Given the description of an element on the screen output the (x, y) to click on. 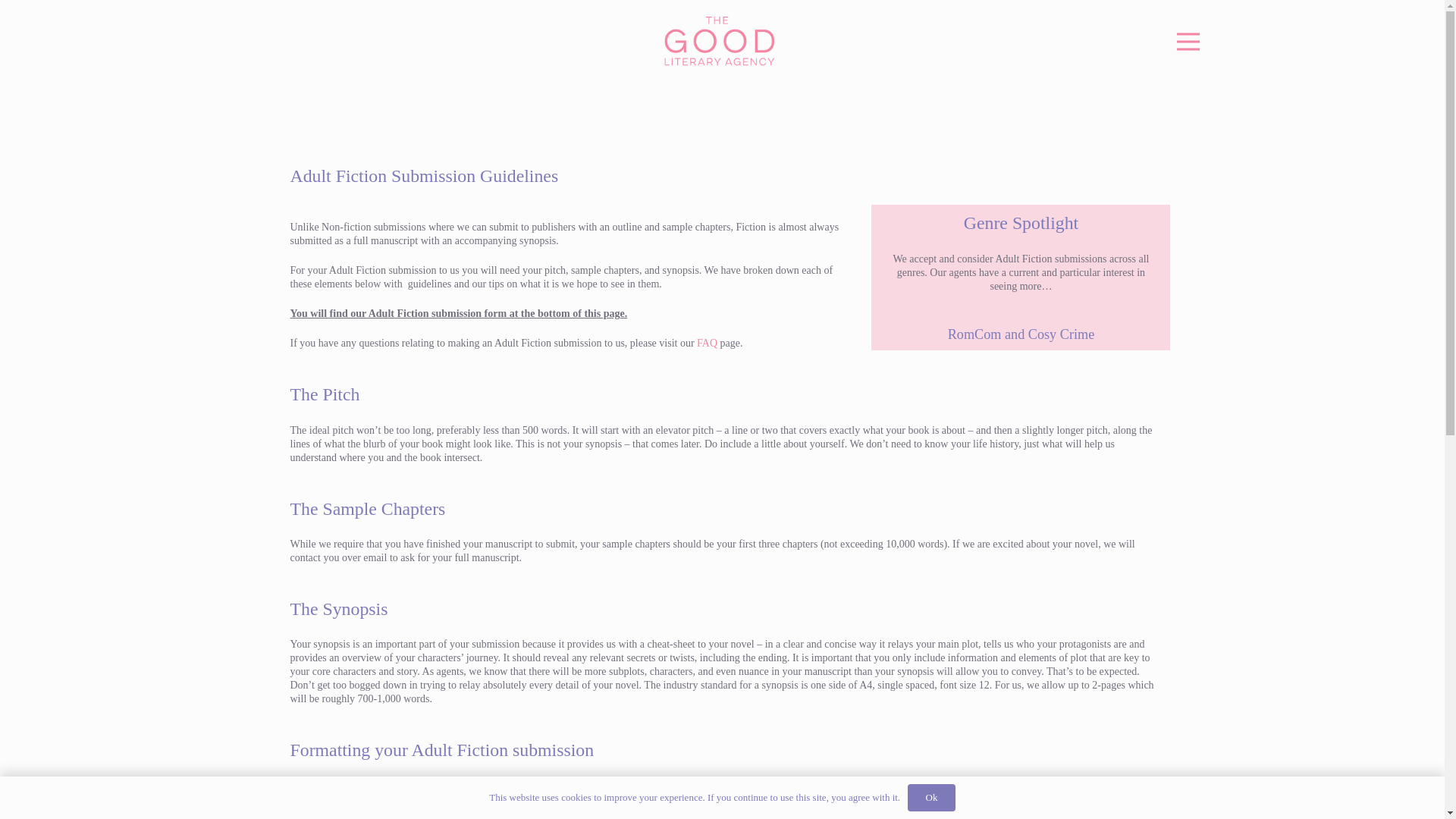
Ok (931, 797)
FAQ (707, 342)
